Given the description of an element on the screen output the (x, y) to click on. 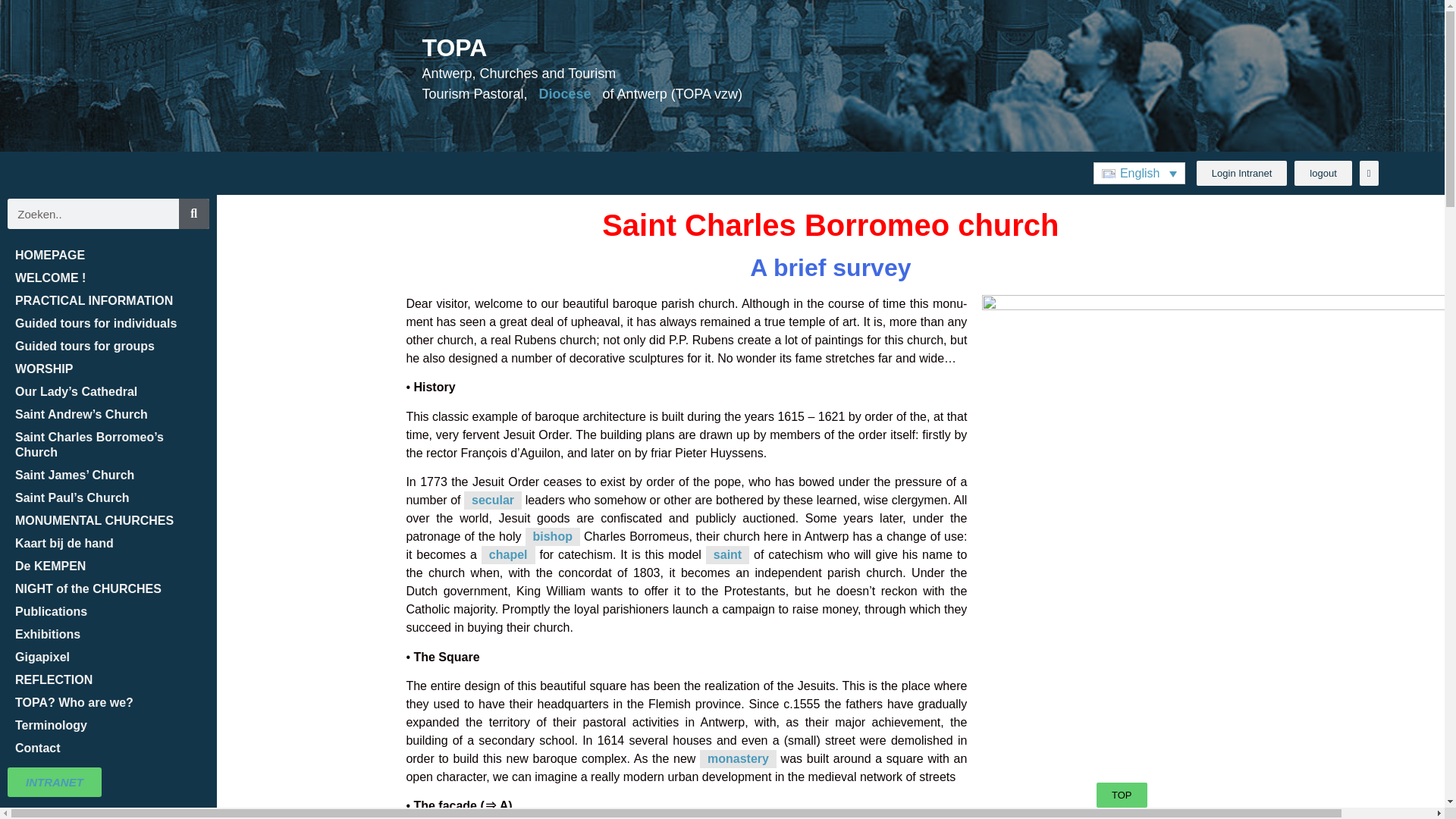
WELCOME ! (108, 277)
HOMEPAGE (108, 255)
Guided tours for groups (108, 345)
Login Intranet (1241, 172)
English (1139, 173)
Diocese (564, 94)
logout (1322, 172)
WORSHIP (108, 368)
Guided tours for individuals (108, 323)
TOPA (454, 47)
PRACTICAL INFORMATION (108, 300)
